Given the description of an element on the screen output the (x, y) to click on. 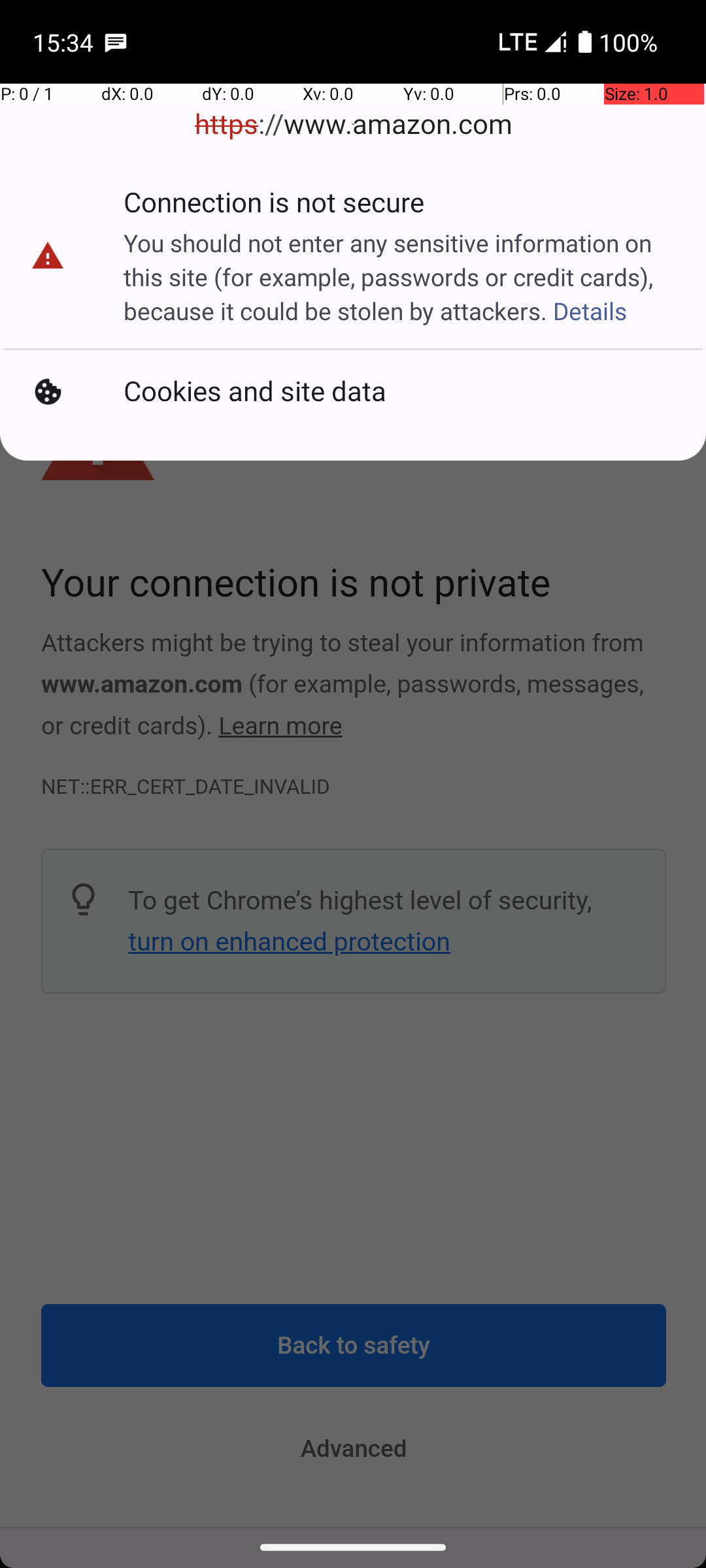
https://www.amazon.com Element type: android.widget.TextView (352, 124)
